Given the description of an element on the screen output the (x, y) to click on. 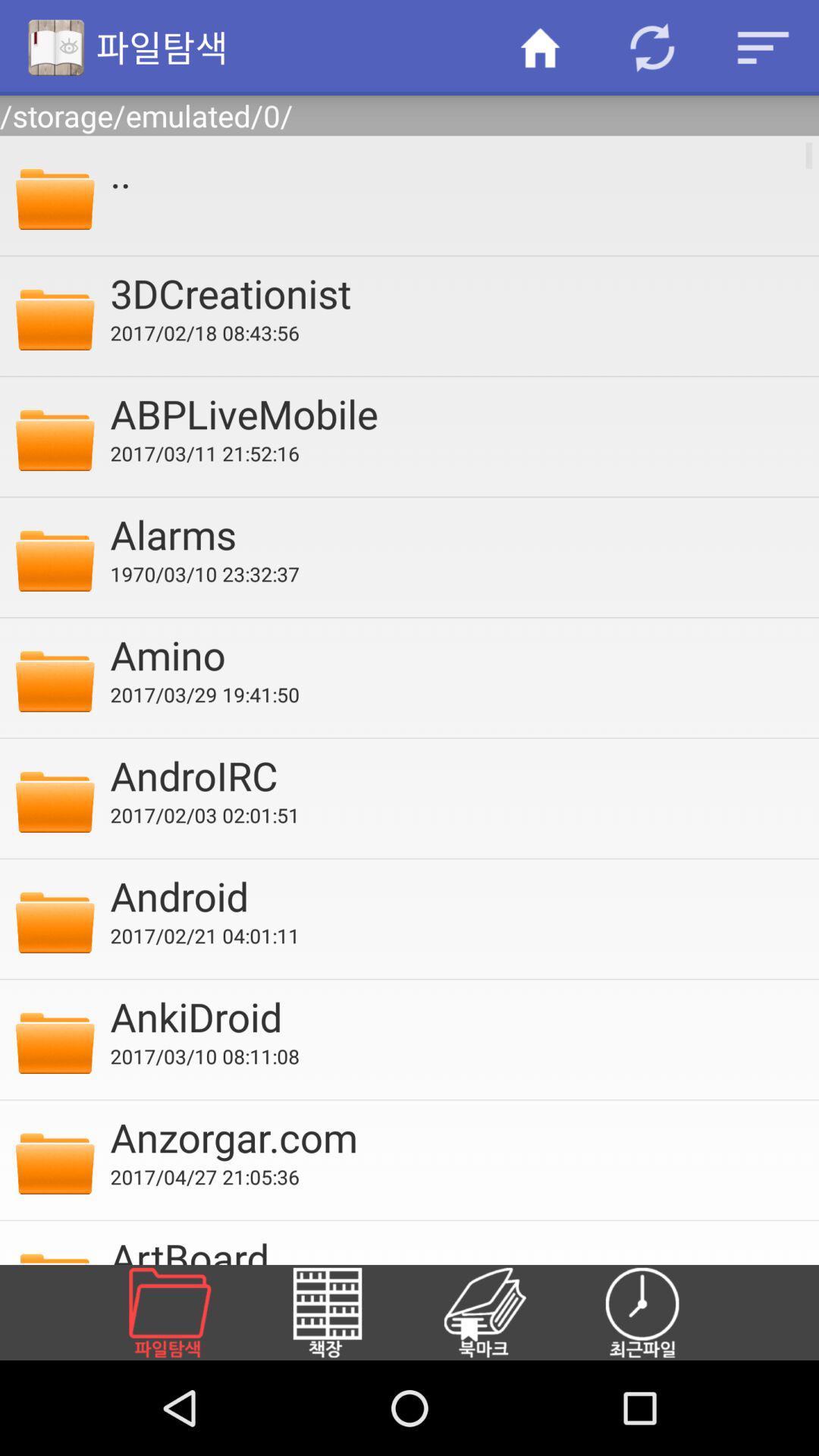
scroll to abplivemobile icon (454, 413)
